Given the description of an element on the screen output the (x, y) to click on. 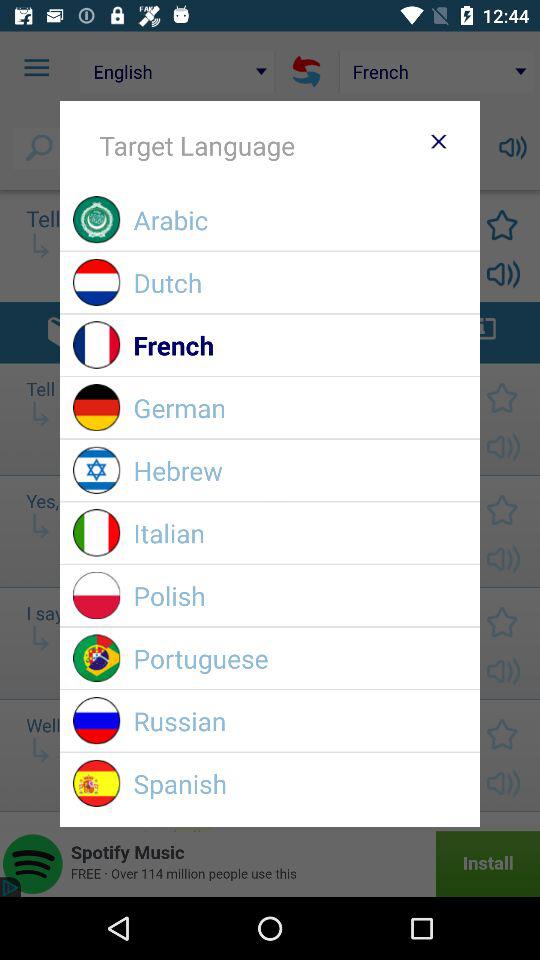
close language widget (438, 141)
